Given the description of an element on the screen output the (x, y) to click on. 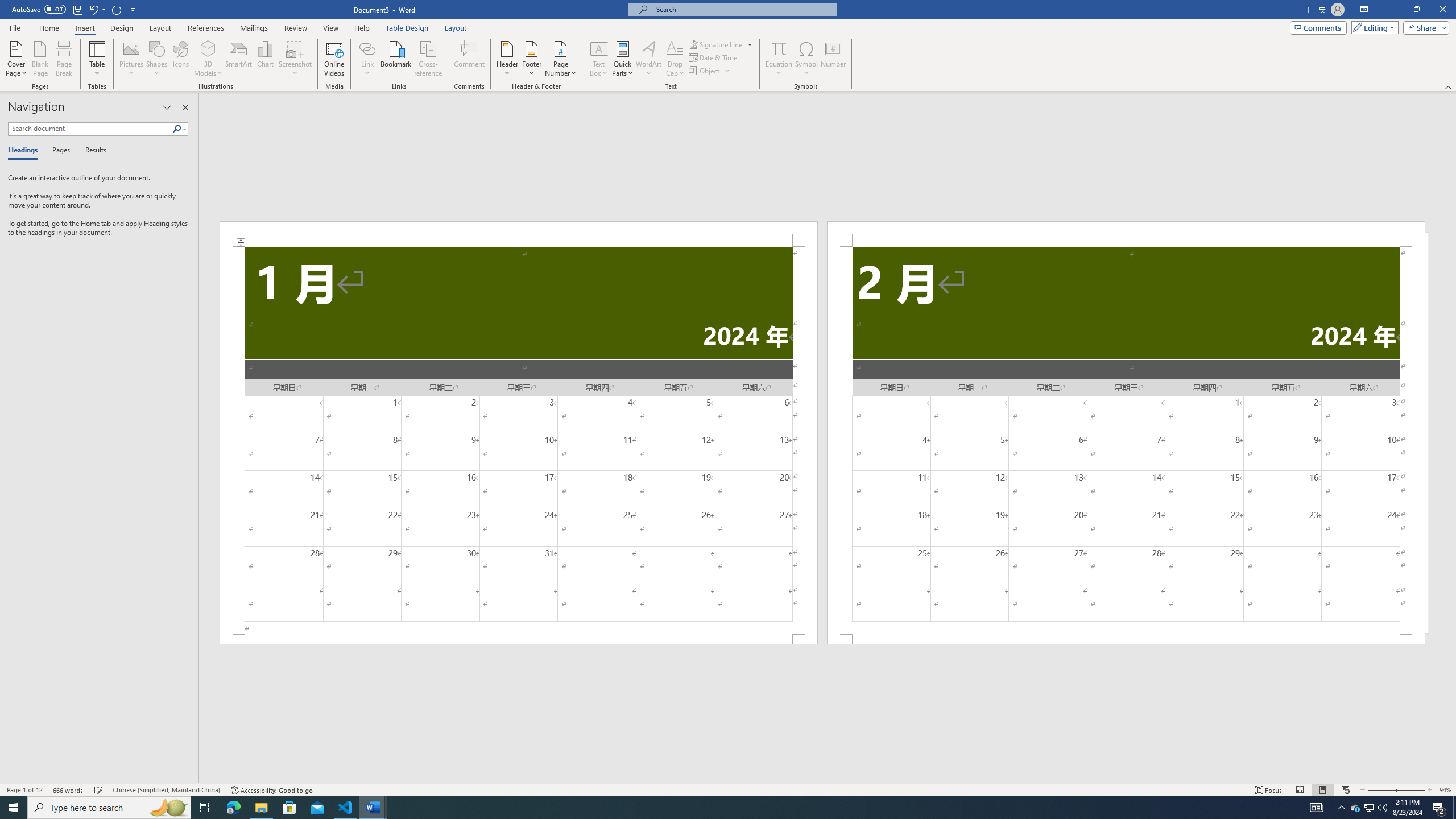
Word Count 666 words (68, 790)
Date & Time... (714, 56)
Equation (778, 48)
